Given the description of an element on the screen output the (x, y) to click on. 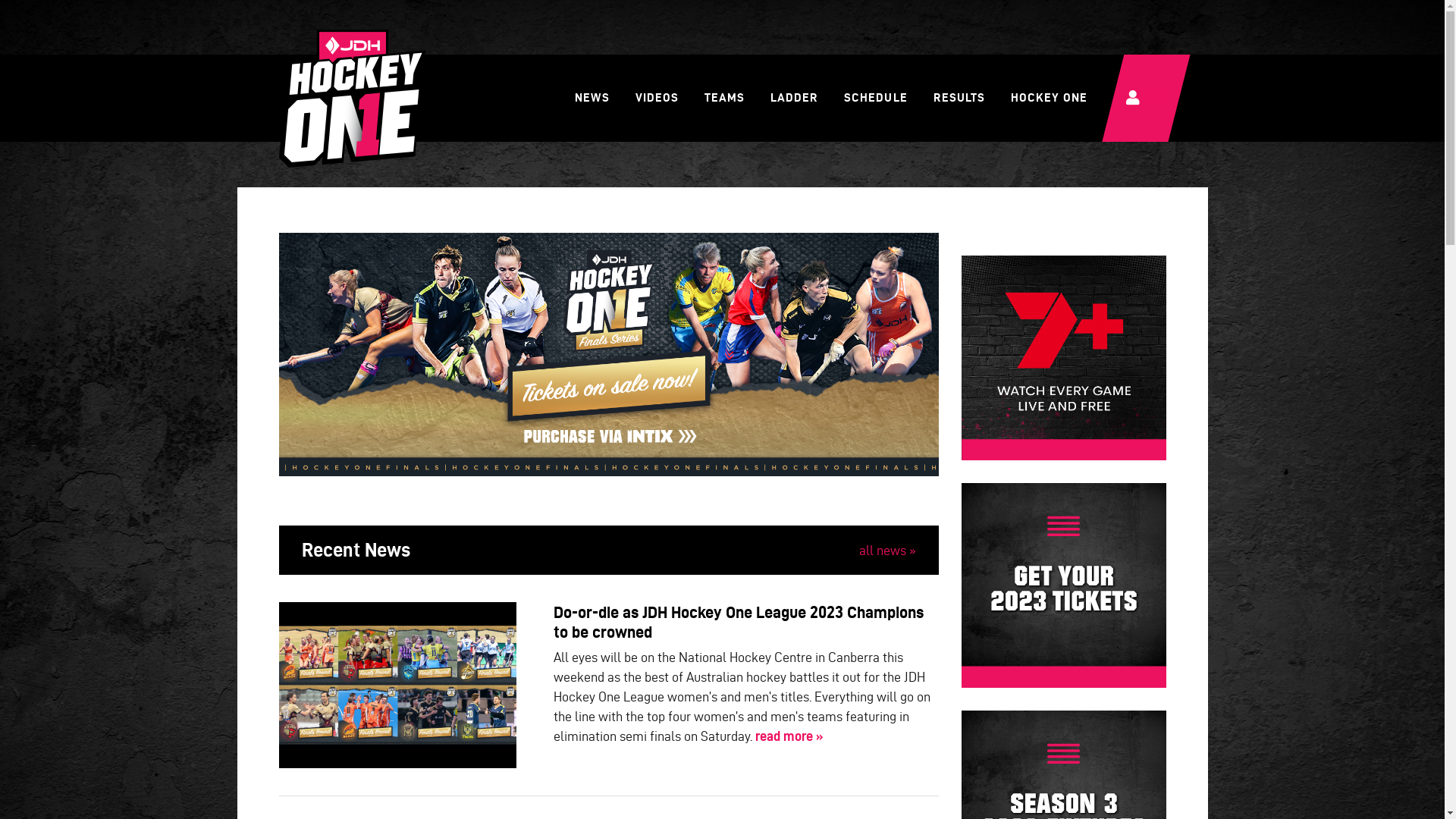
RESULTS Element type: text (959, 97)
HOCKEY ONE Element type: text (1048, 97)
NEWS Element type: text (591, 97)
VIDEOS Element type: text (657, 97)
LOGIN Element type: text (1145, 97)
LADDER Element type: text (794, 97)
SCHEDULE Element type: text (875, 97)
TEAMS Element type: text (724, 97)
